Given the description of an element on the screen output the (x, y) to click on. 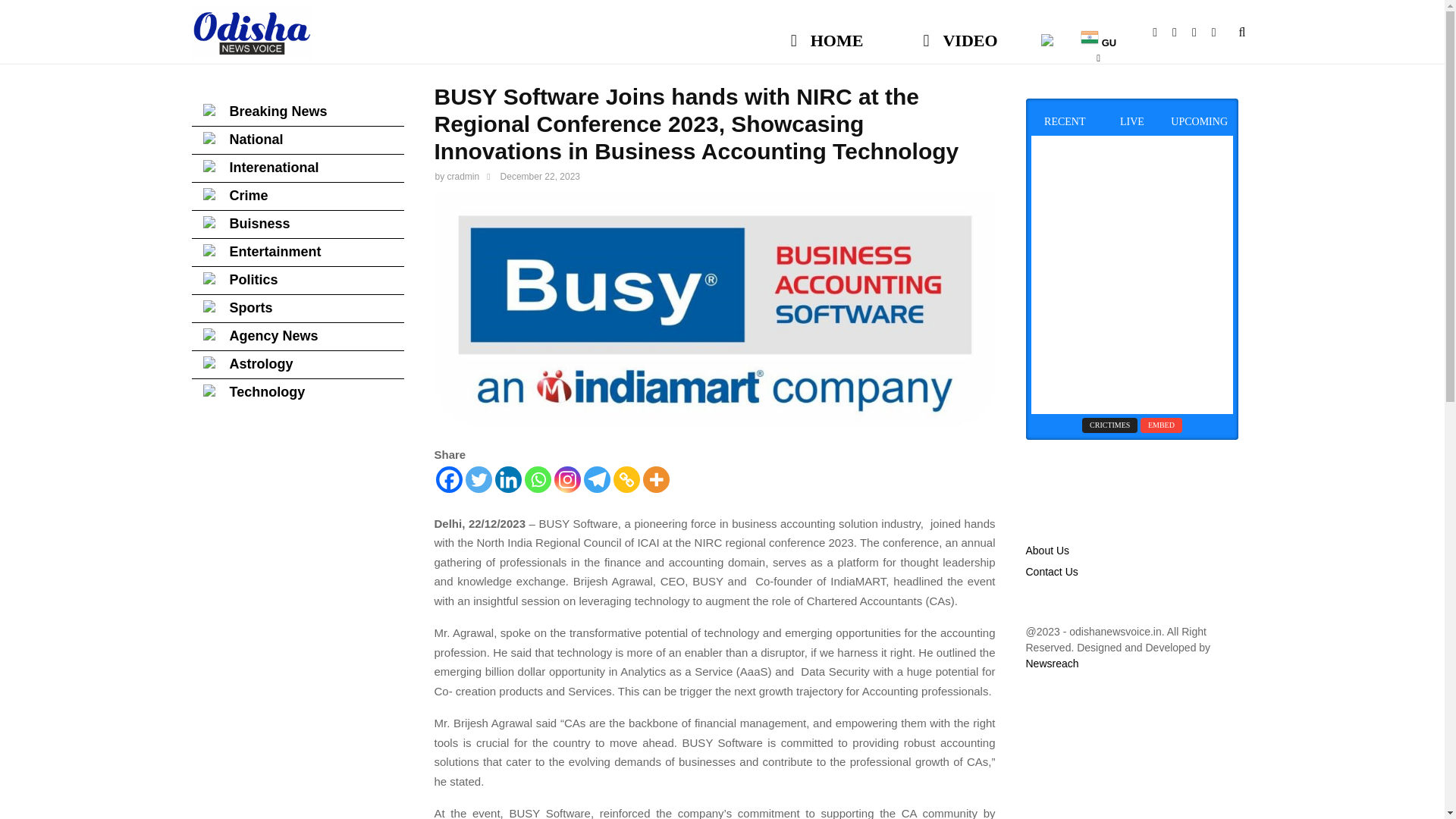
cradmin (463, 176)
Telegram (596, 479)
Linkedin (508, 479)
Facebook (448, 479)
Copy Link (625, 479)
GU (1098, 33)
Facebook (1162, 31)
Instagram (566, 479)
Youtube (1182, 31)
Whatsapp (1221, 31)
VIDEO (960, 33)
Email (1201, 31)
HOME (826, 33)
Whatsapp (537, 479)
Twitter (478, 479)
